Given the description of an element on the screen output the (x, y) to click on. 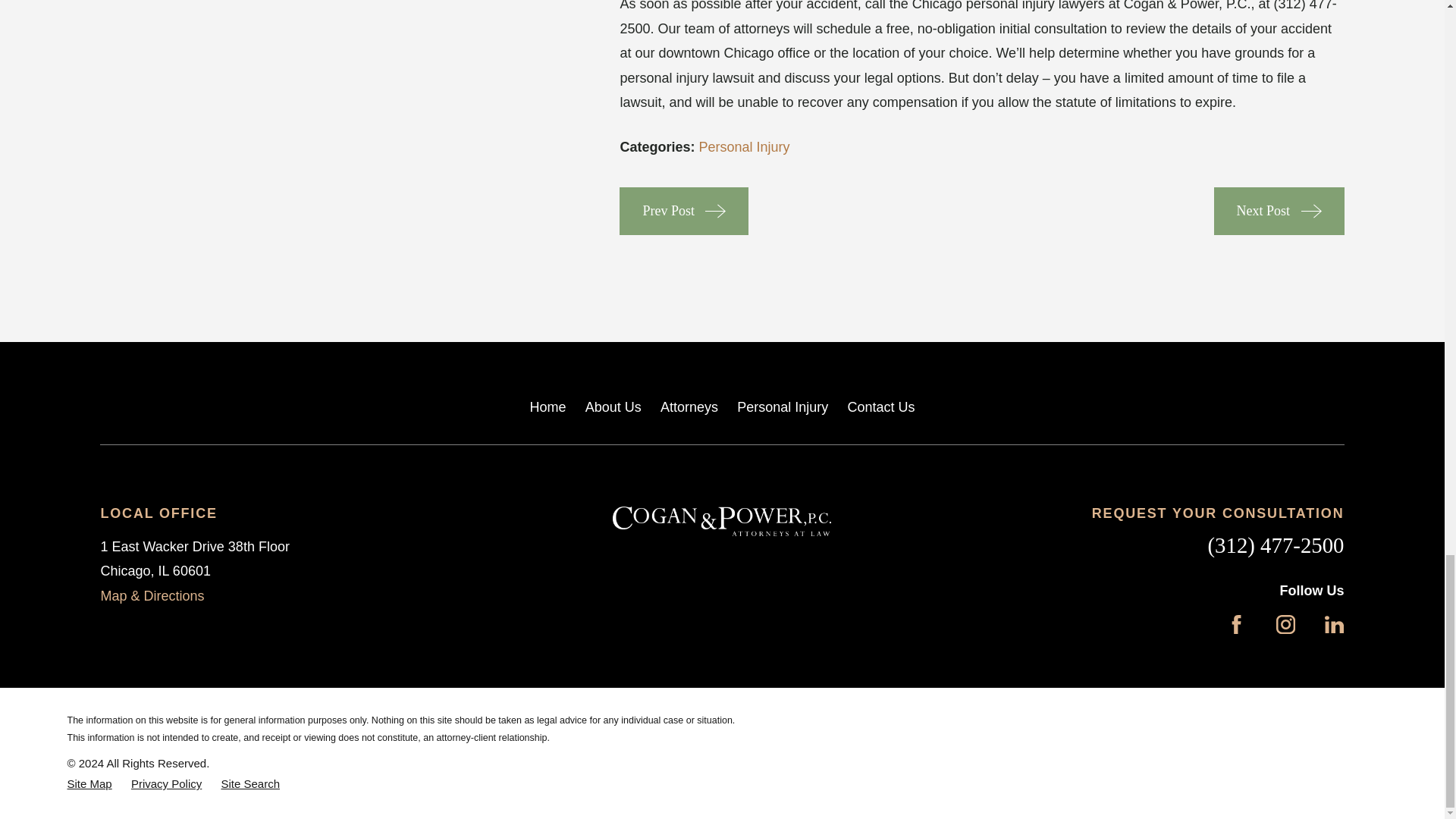
Facebook (1236, 624)
Instagram (1285, 624)
LinkedIn (1333, 624)
Home (721, 521)
